Given the description of an element on the screen output the (x, y) to click on. 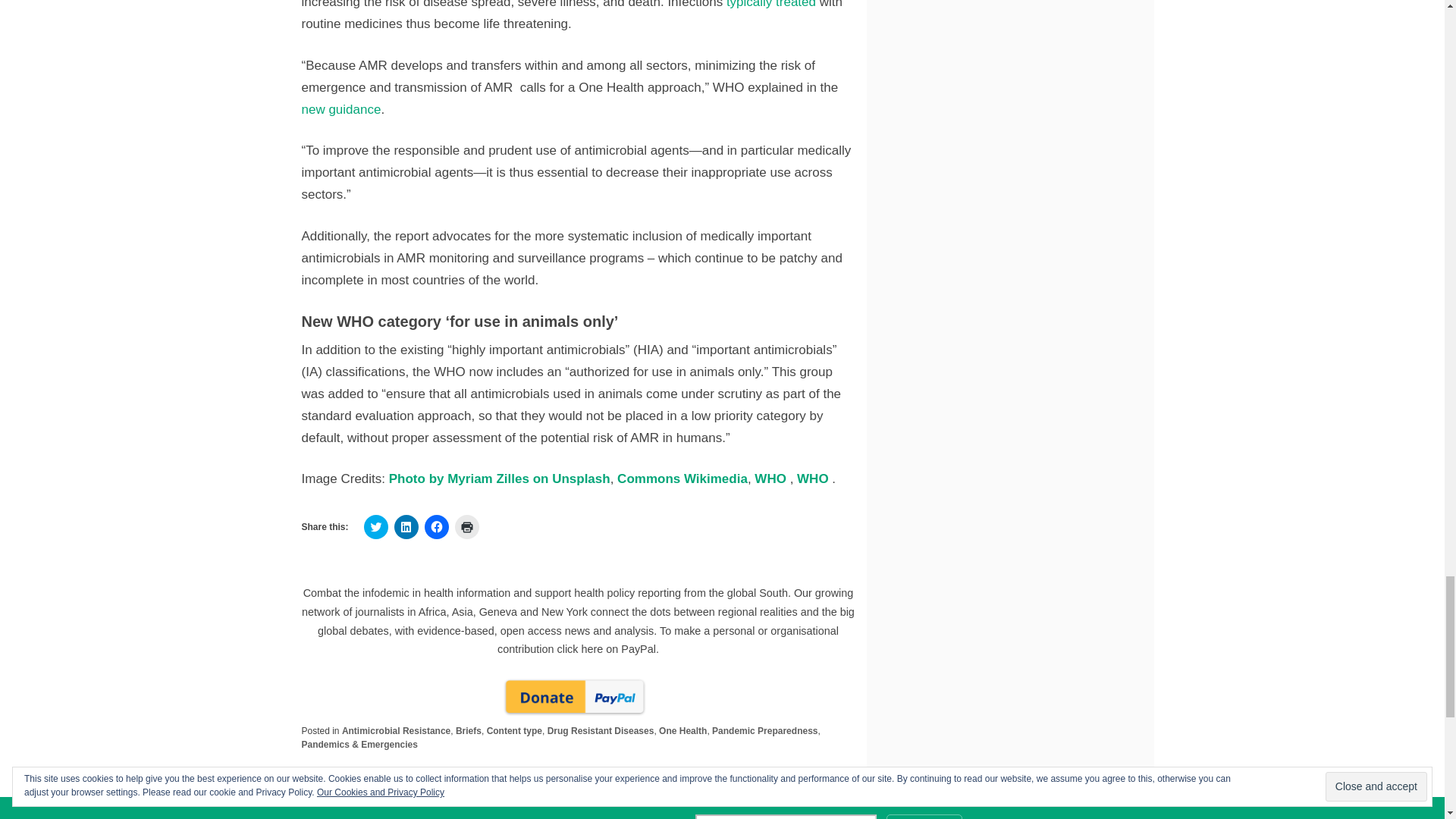
Antimicrobial Resistance (395, 730)
Commons Wikimedia (682, 478)
Photo by Myriam Zilles on Unsplash (499, 478)
Briefs (468, 730)
new guidance (341, 109)
WHO (771, 478)
Sign up (924, 816)
WHO (813, 478)
typically treated (770, 4)
